Given the description of an element on the screen output the (x, y) to click on. 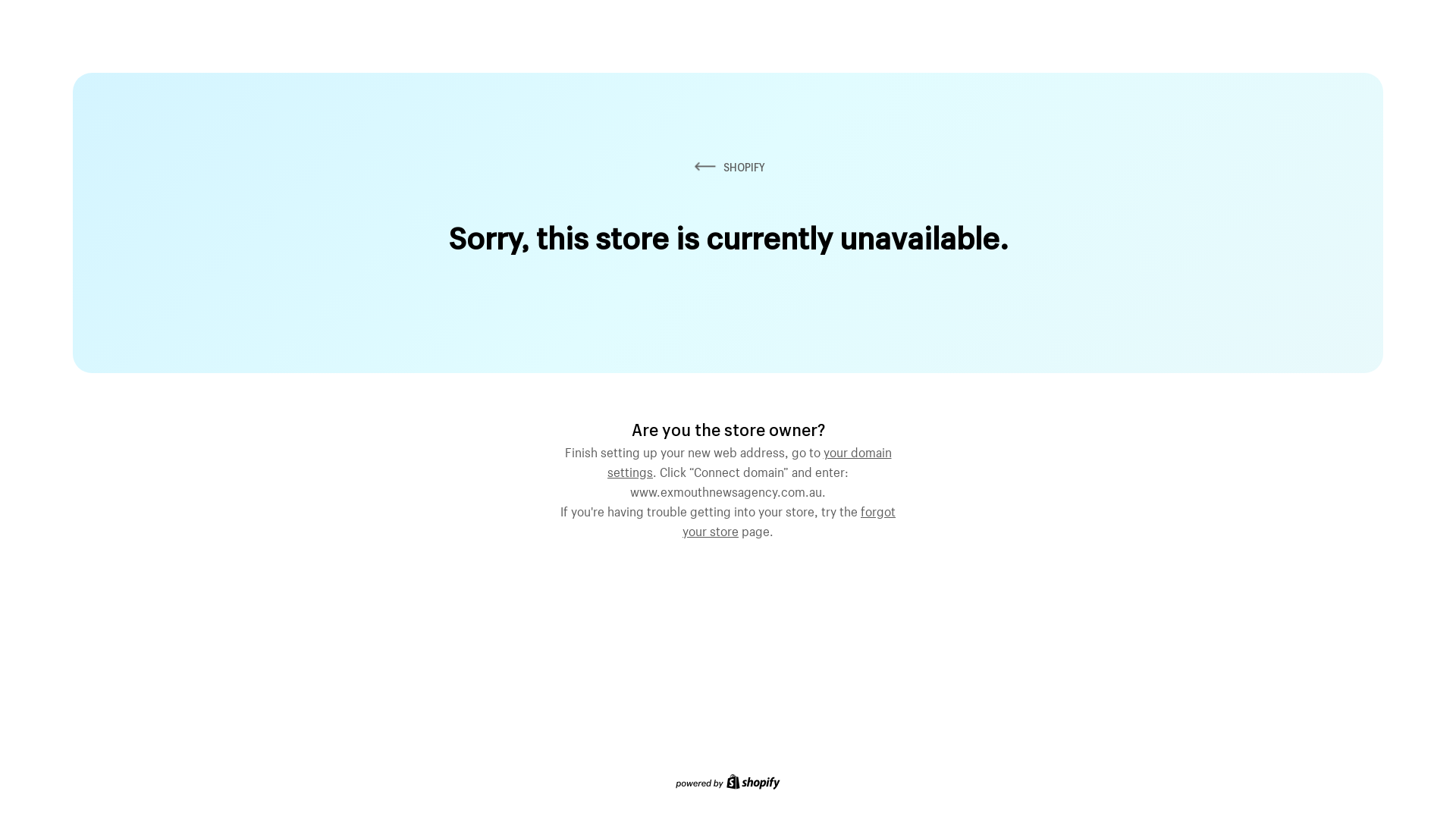
SHOPIFY Element type: text (727, 167)
forgot your store Element type: text (788, 519)
your domain settings Element type: text (749, 460)
